Given the description of an element on the screen output the (x, y) to click on. 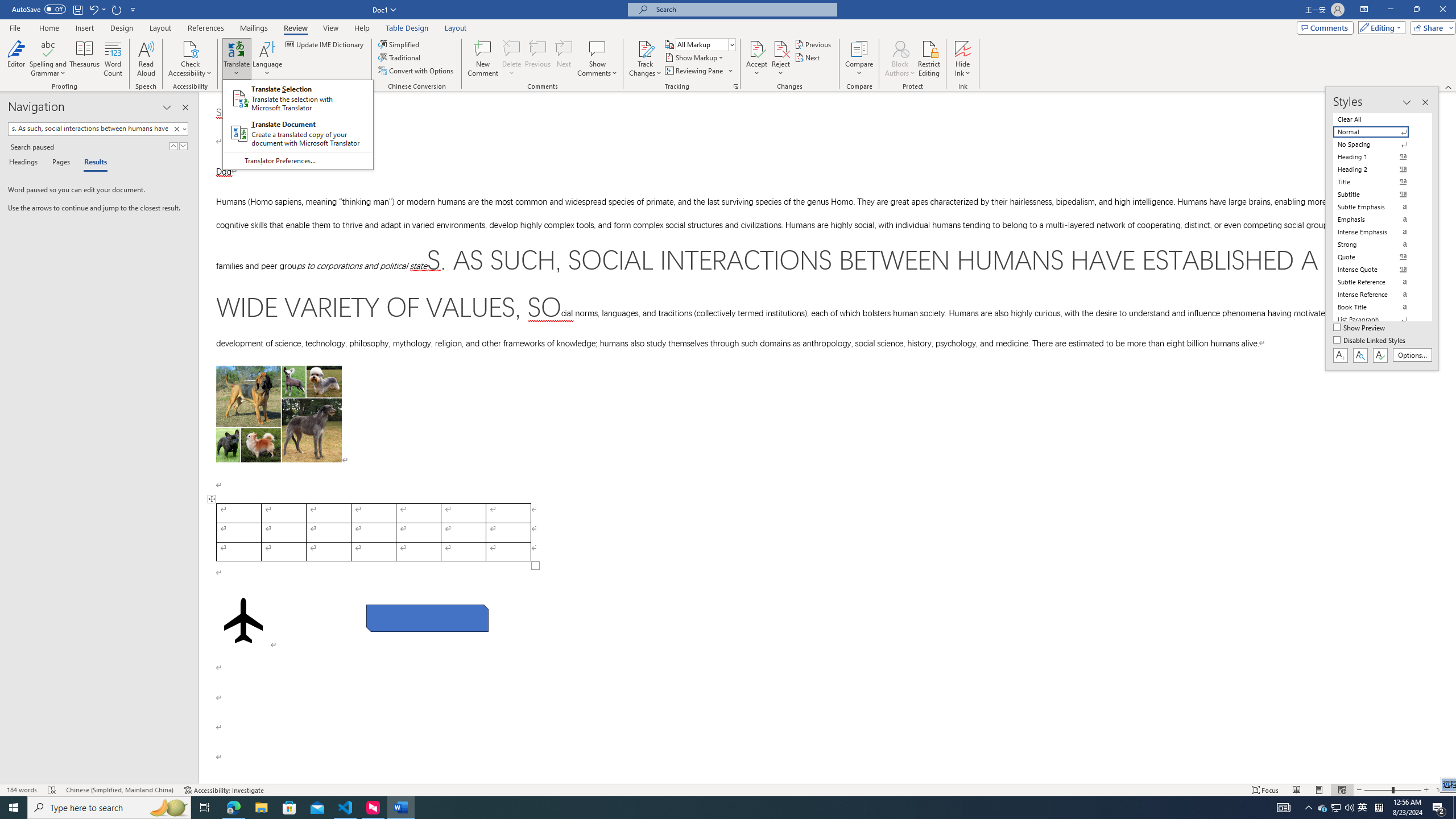
File Explorer (261, 807)
Hide Ink (962, 58)
Strong (1377, 244)
Spelling and Grammar Check Errors (52, 790)
Word Count 184 words (22, 790)
AutomationID: 4105 (1283, 807)
Running applications (700, 807)
Reviewing Pane (698, 69)
Airplane with solid fill (242, 619)
List Paragraph (1377, 319)
Disable Linked Styles (1370, 340)
